Given the description of an element on the screen output the (x, y) to click on. 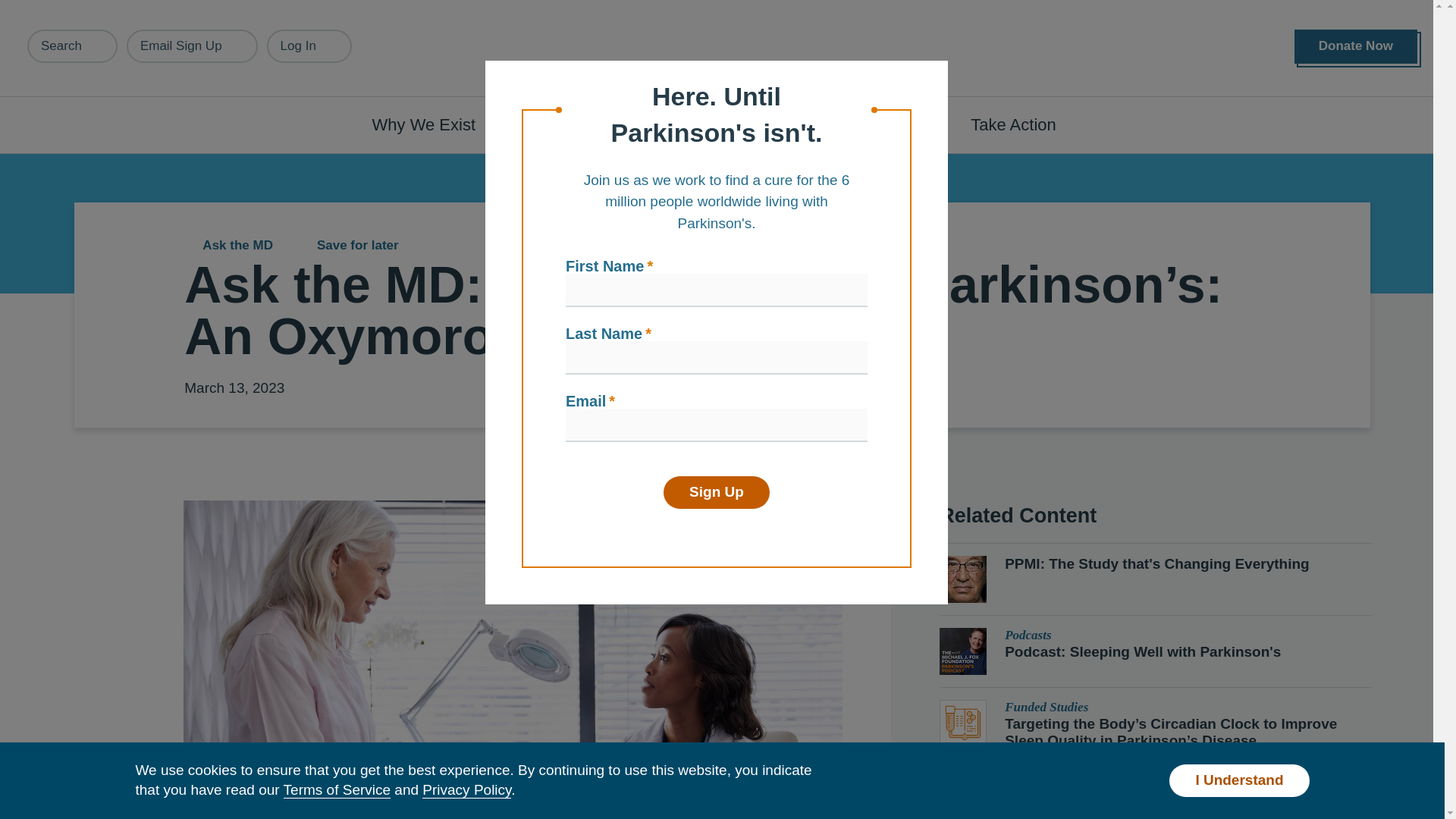
Home Page (722, 48)
Why We Exist (432, 125)
Log In (309, 46)
Search (72, 46)
Email Sign Up (191, 46)
Understanding Parkinson's (640, 125)
Skip to main content (96, 7)
Donate Now (1355, 46)
